Given the description of an element on the screen output the (x, y) to click on. 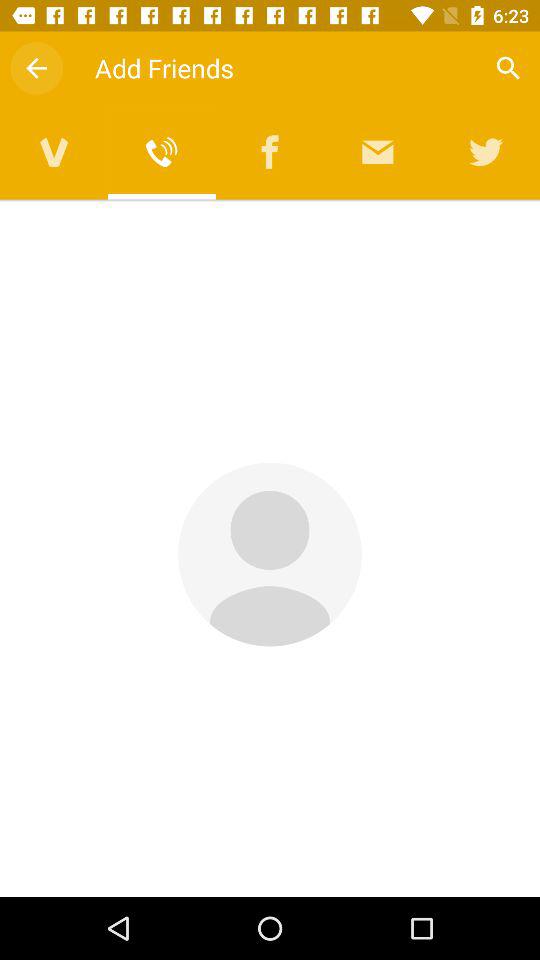
voice calling (162, 152)
